Given the description of an element on the screen output the (x, y) to click on. 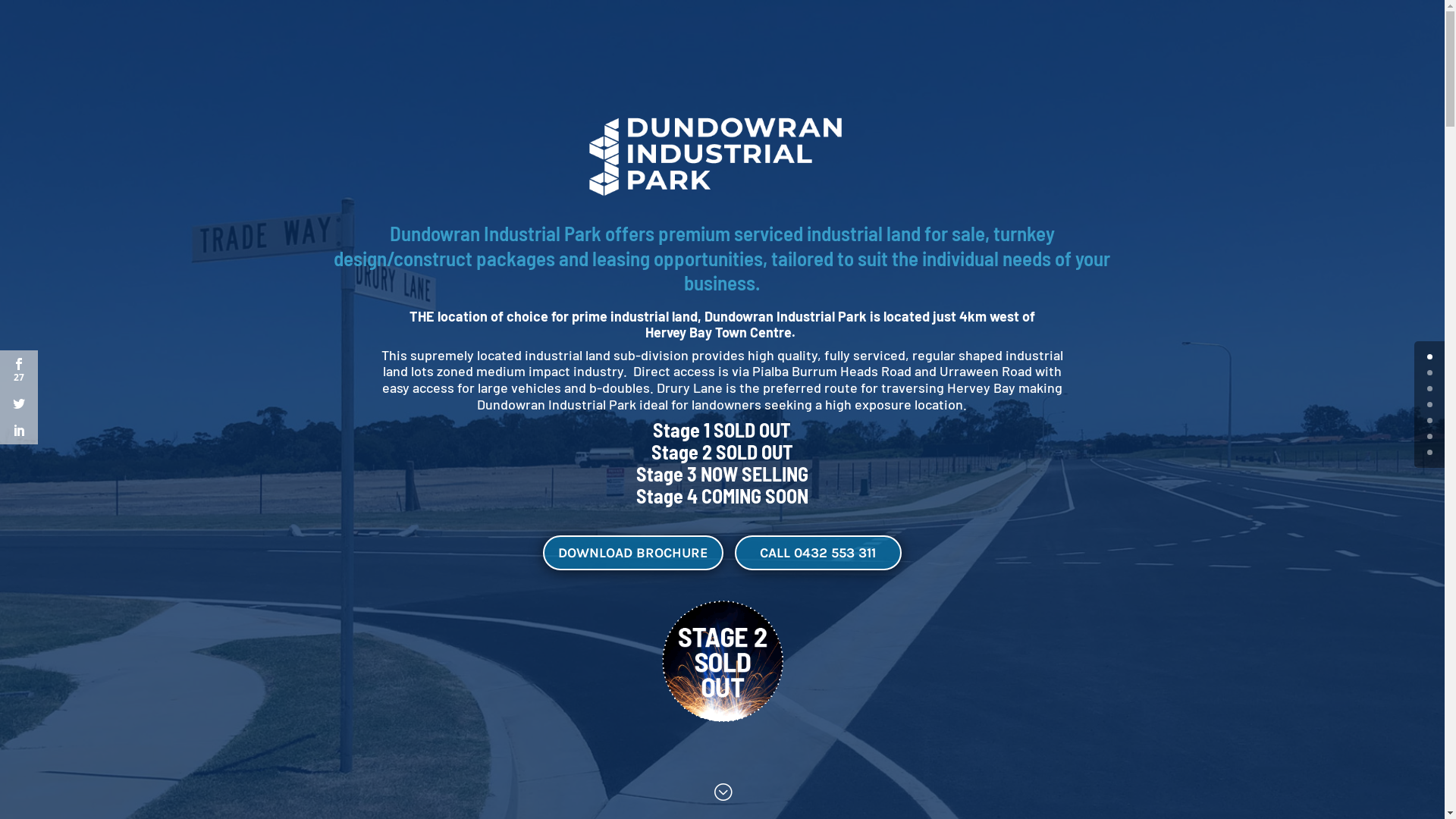
1 Element type: text (1429, 372)
0 Element type: text (1429, 356)
DOWNLOAD BROCHURE Element type: text (632, 552)
2 Element type: text (1429, 388)
6 Element type: text (1429, 452)
5 Element type: text (1429, 436)
3 Element type: text (1429, 404)
27 Element type: text (18, 369)
4 Element type: text (1429, 420)
; Element type: text (722, 792)
CALL 0432 553 311 Element type: text (817, 552)
